Given the description of an element on the screen output the (x, y) to click on. 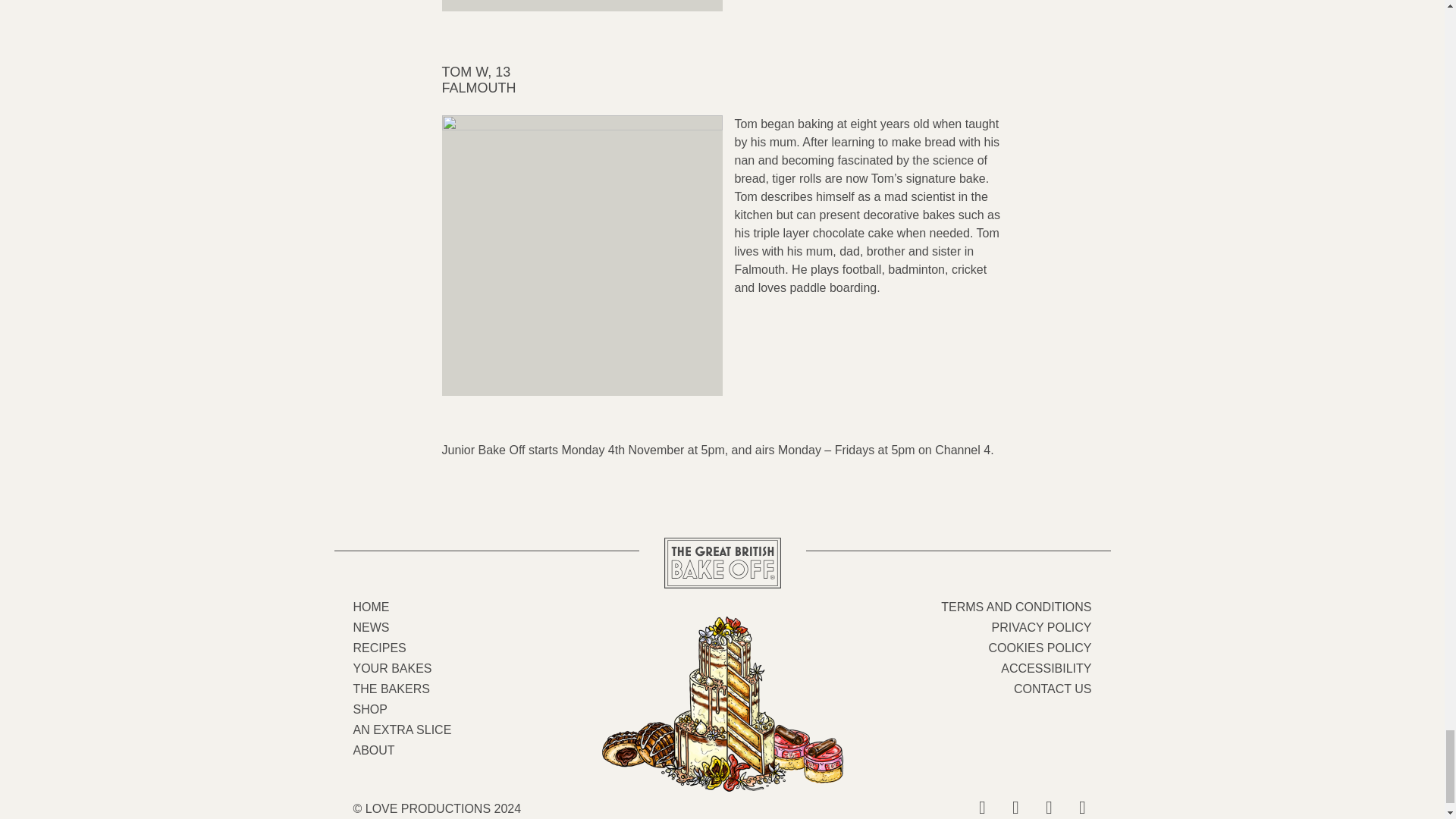
COOKIES POLICY (1039, 647)
HOME (371, 606)
ACCESSIBILITY (1045, 667)
TERMS AND CONDITIONS (1015, 606)
THE BAKERS (391, 688)
RECIPES (379, 647)
CONTACT US (1052, 688)
ABOUT (373, 749)
SHOP (370, 708)
PRIVACY POLICY (1041, 626)
AN EXTRA SLICE (402, 729)
YOUR BAKES (392, 667)
NEWS (371, 626)
